Given the description of an element on the screen output the (x, y) to click on. 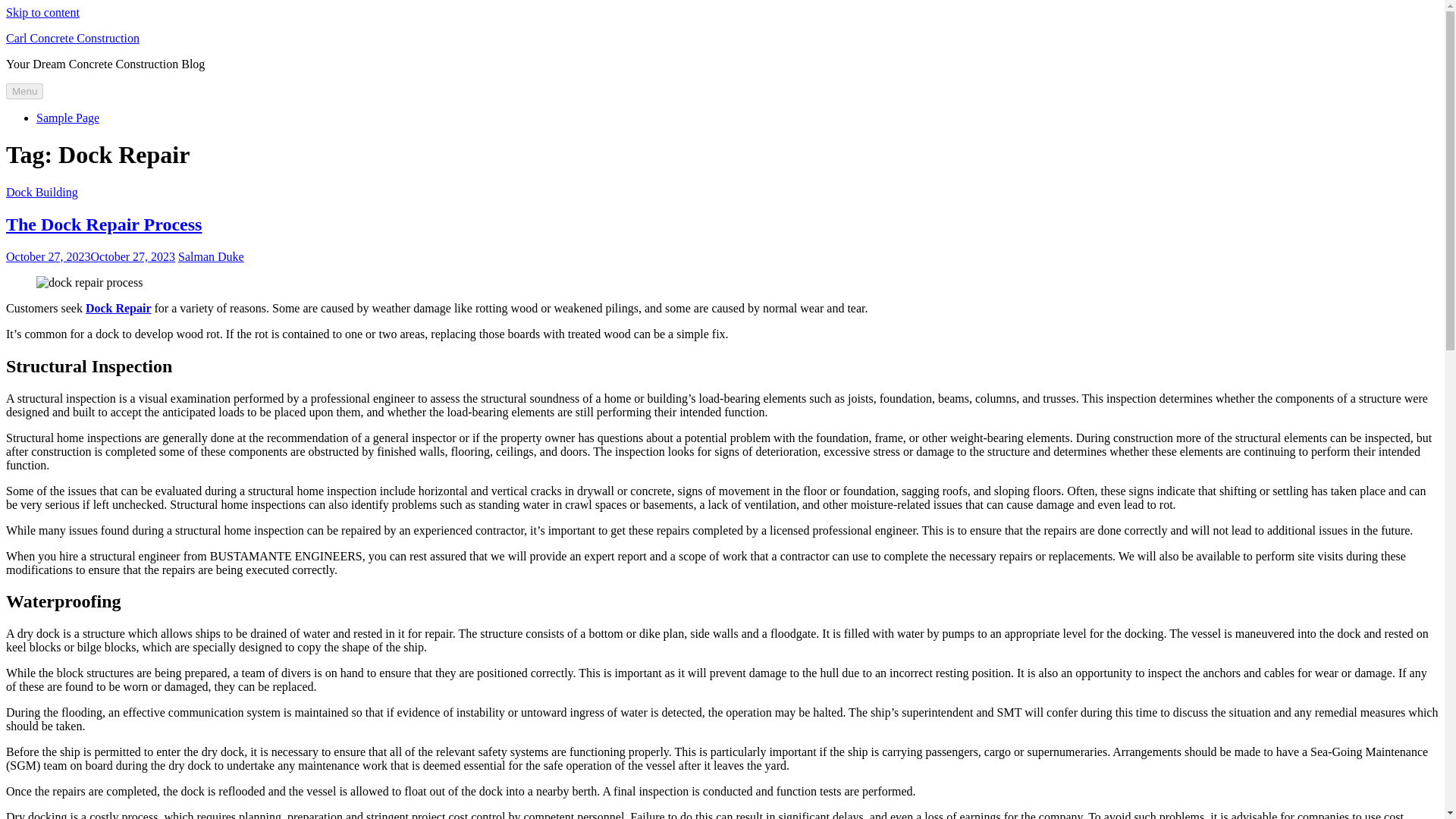
Dock Building (41, 192)
The Dock Repair Process (103, 224)
Skip to content (42, 11)
Dock Repair (118, 308)
Sample Page (67, 117)
October 27, 2023October 27, 2023 (89, 256)
Carl Concrete Construction (72, 38)
Salman Duke (210, 256)
Menu (24, 91)
